Given the description of an element on the screen output the (x, y) to click on. 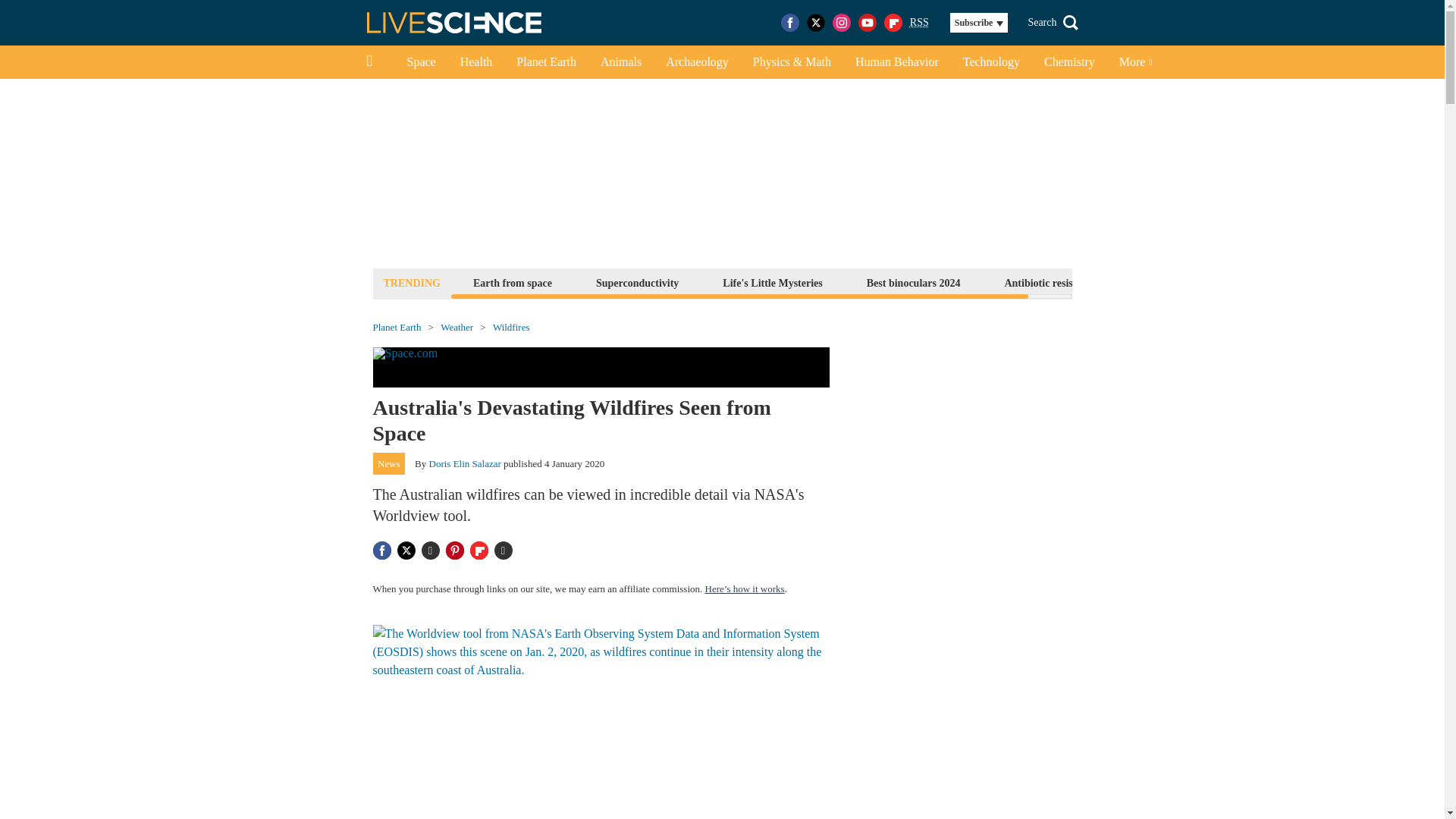
Best binoculars 2024 (913, 282)
RSS (919, 22)
Animals (620, 61)
Life's Little Mysteries (772, 282)
Antibiotic resistance (1050, 282)
Technology (991, 61)
Archaeology (697, 61)
News (389, 463)
Chemistry (1069, 61)
Earth from space (512, 282)
